Given the description of an element on the screen output the (x, y) to click on. 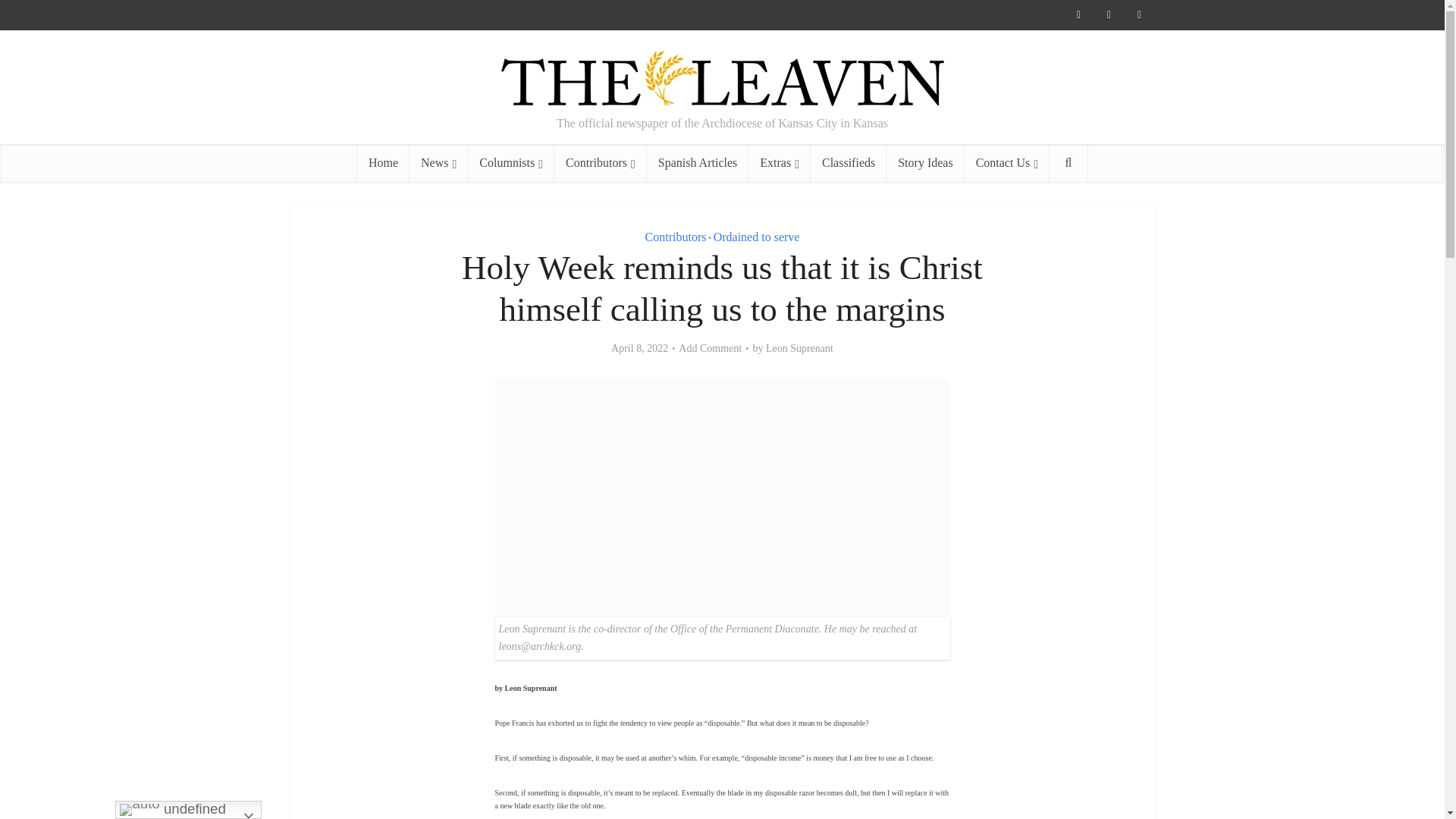
Contributors (600, 162)
Classifieds (848, 162)
Spanish Articles (697, 162)
Columnists (510, 162)
Extras (779, 162)
Home (382, 162)
None (438, 162)
News (438, 162)
